Given the description of an element on the screen output the (x, y) to click on. 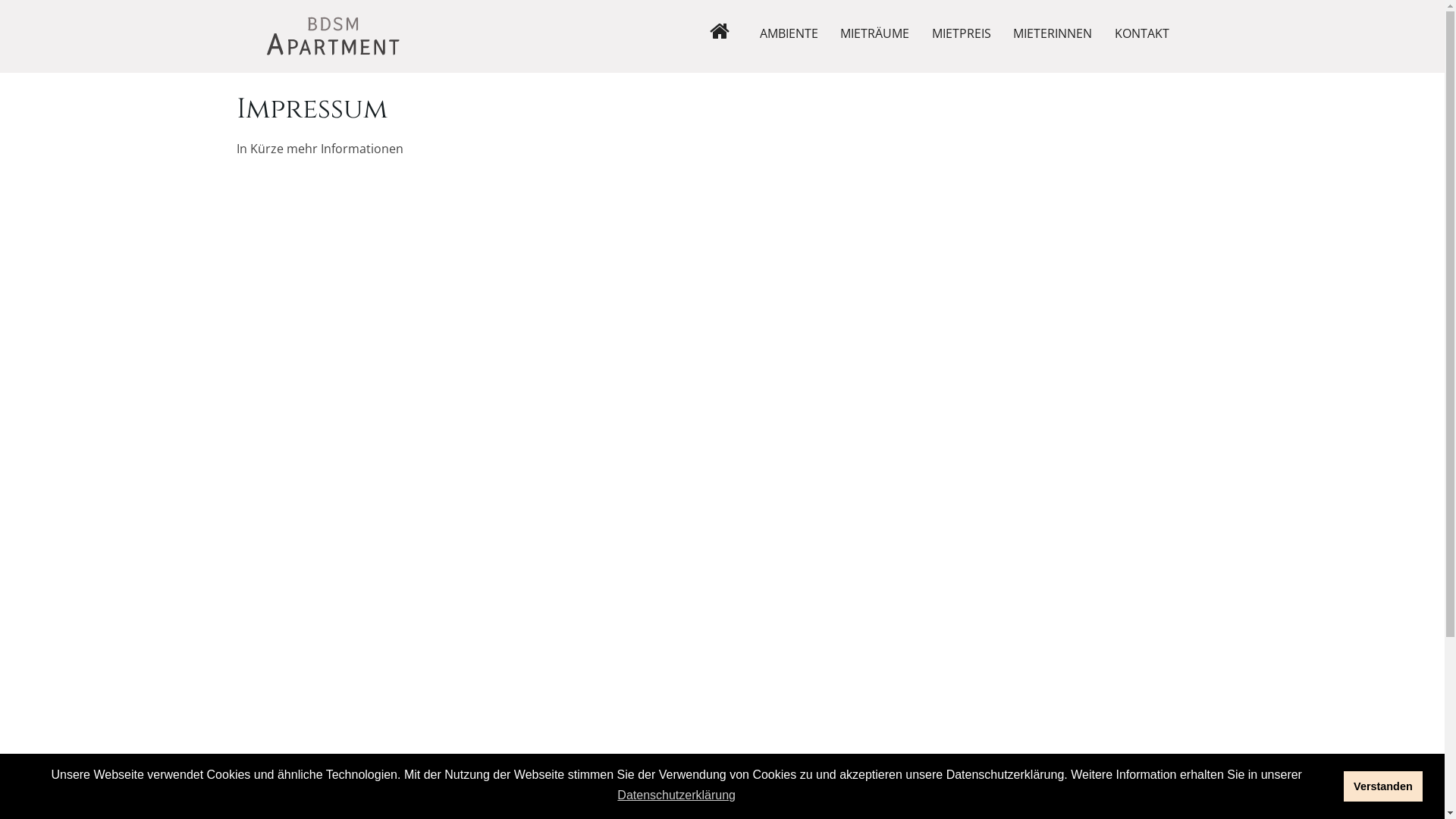
AMBIENTE Element type: text (788, 33)
KONTAKT Element type: text (1141, 33)
Verstanden Element type: text (1383, 786)
MIETPREIS Element type: text (961, 33)
MIETERINNEN Element type: text (1052, 33)
